Given the description of an element on the screen output the (x, y) to click on. 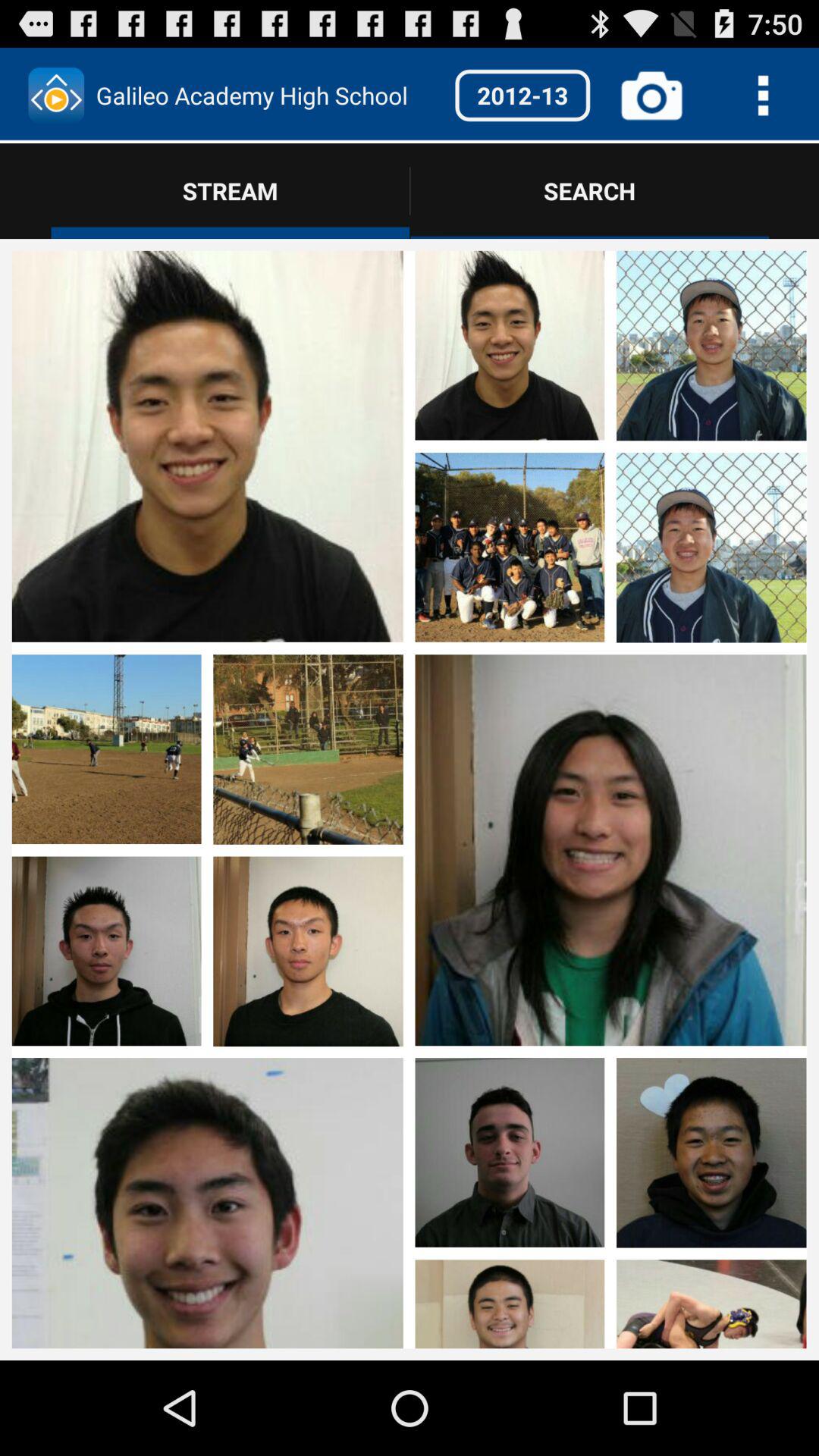
add the option (106, 1144)
